Given the description of an element on the screen output the (x, y) to click on. 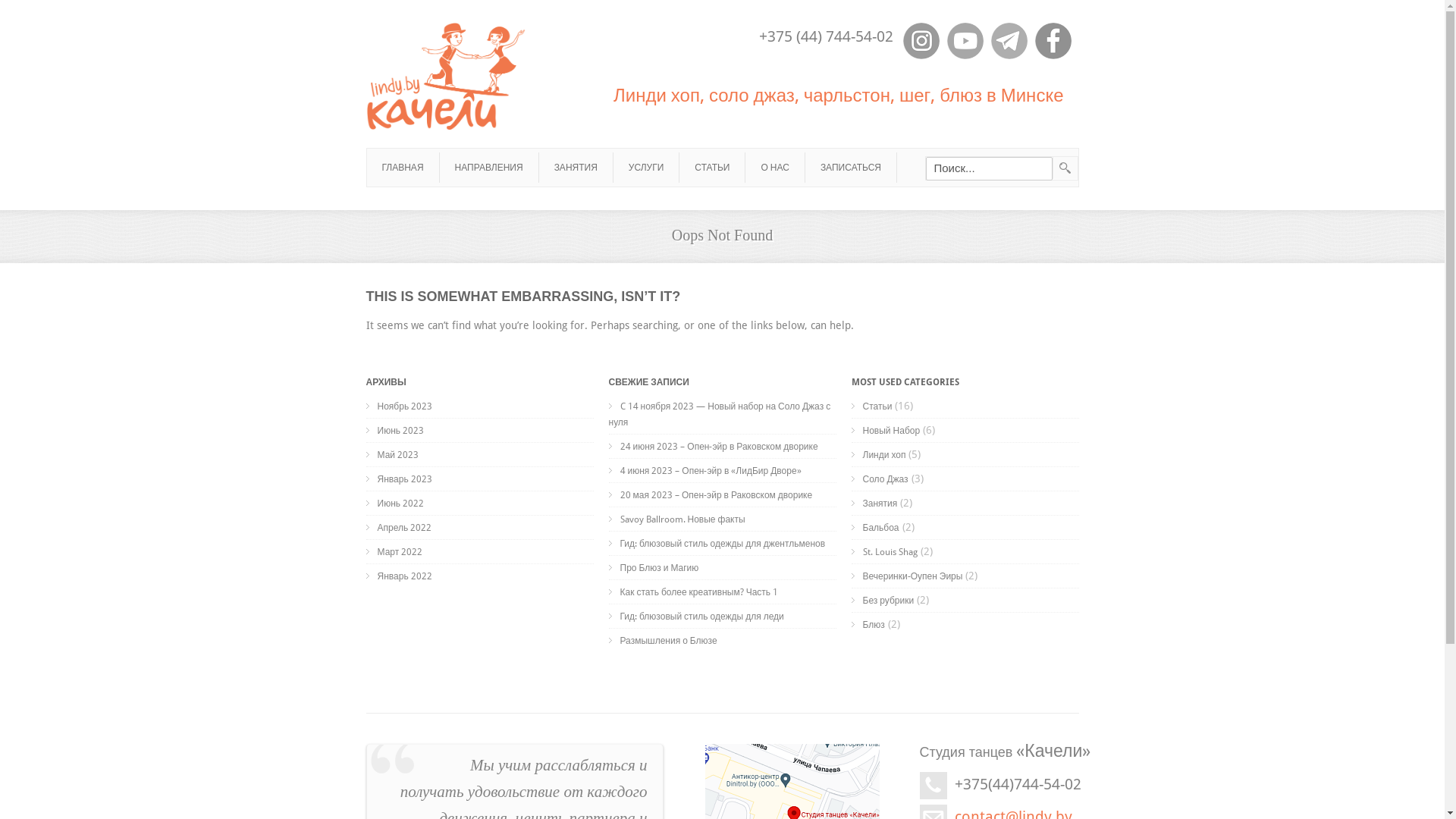
telegram Element type: text (1008, 40)
facebook Element type: text (1052, 40)
youtube Element type: text (964, 40)
instagram Element type: text (920, 40)
St. Louis Shag Element type: text (883, 551)
+375(44)744-54-02 Element type: text (1016, 784)
